Given the description of an element on the screen output the (x, y) to click on. 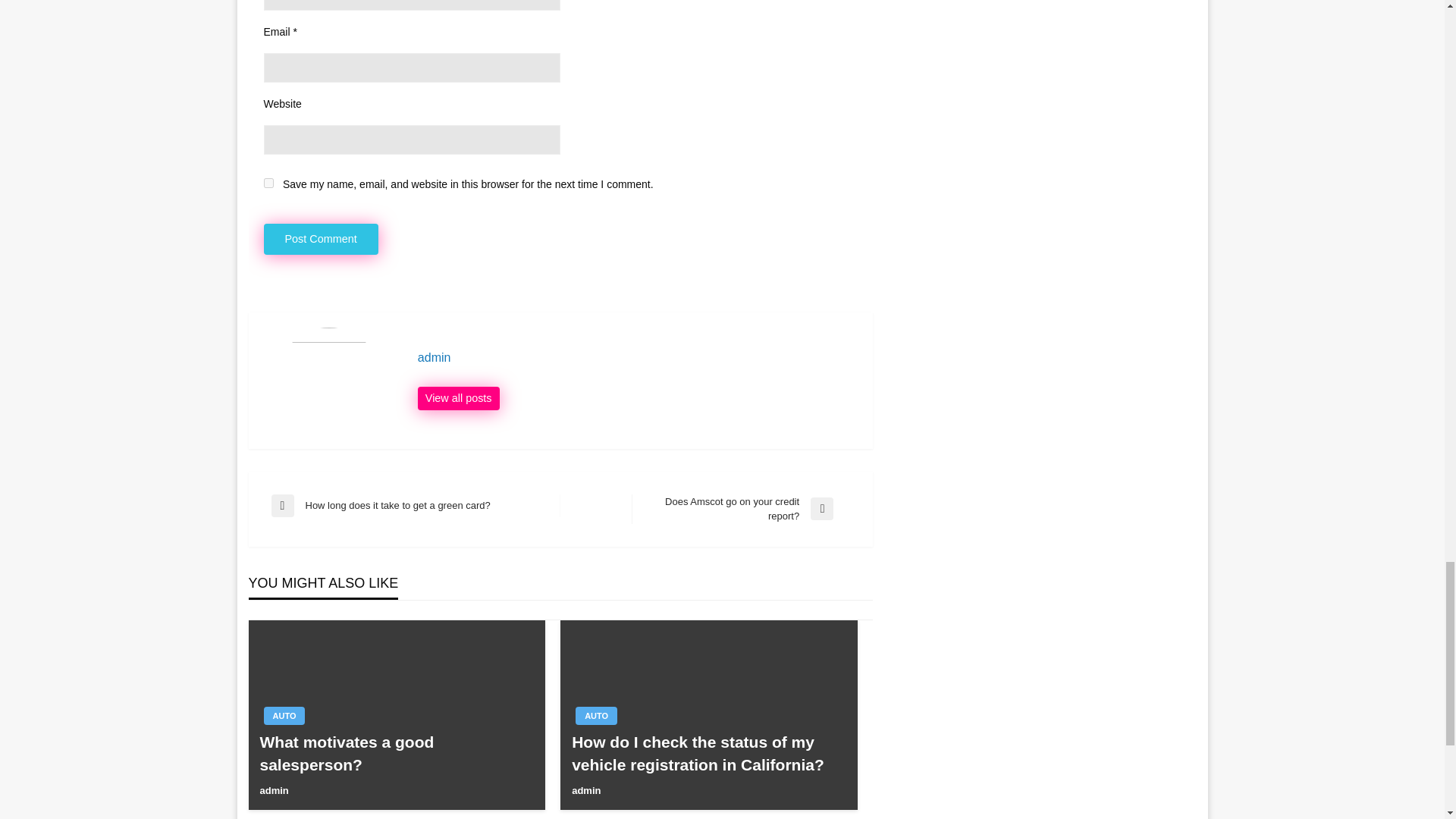
Post Comment (320, 238)
admin (585, 790)
View all posts (740, 509)
yes (458, 398)
Post Comment (268, 183)
admin (320, 238)
AUTO (273, 790)
What motivates a good salesperson? (284, 715)
admin (396, 753)
AUTO (458, 398)
admin (596, 715)
admin (637, 357)
